Given the description of an element on the screen output the (x, y) to click on. 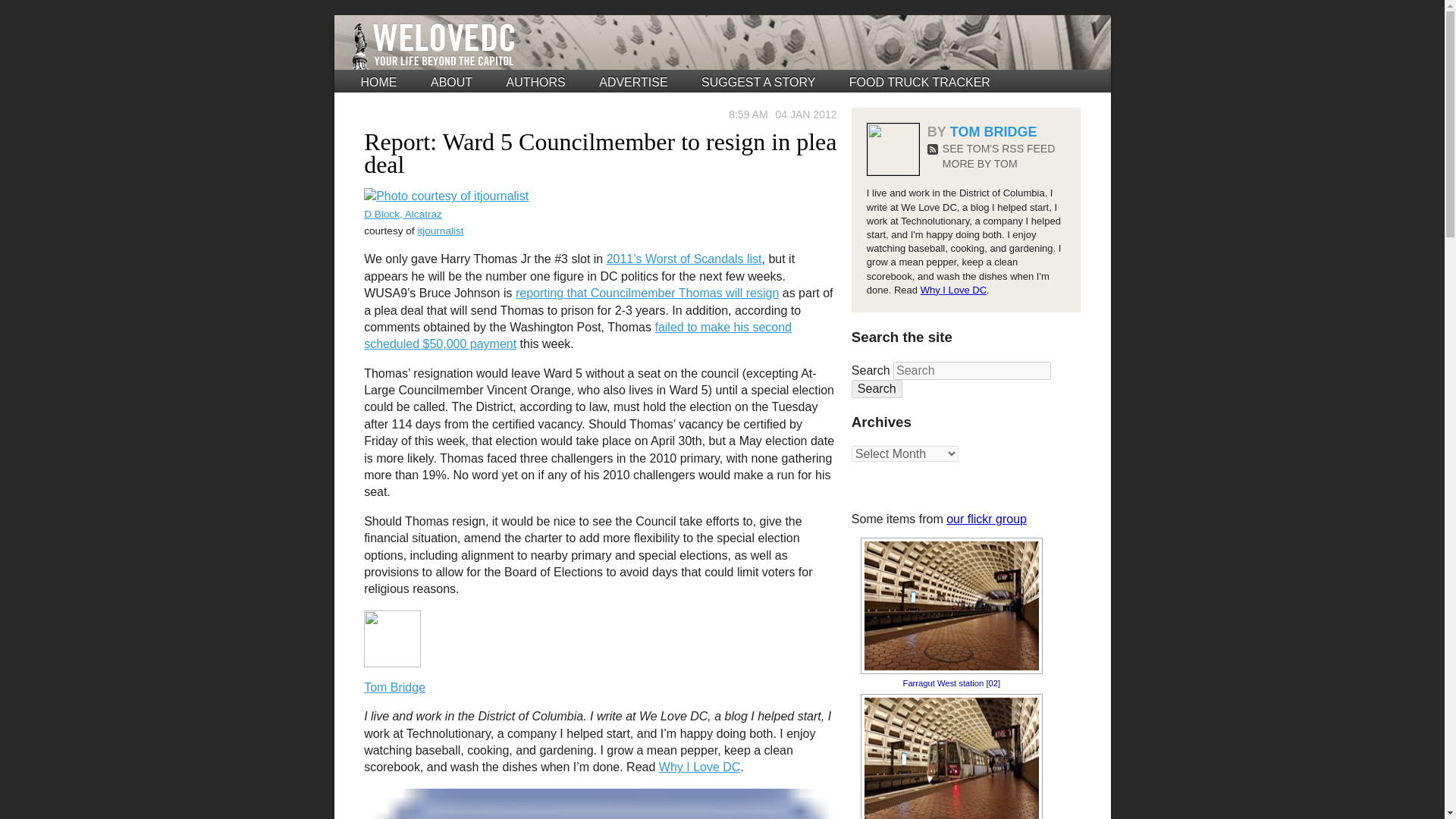
Why I Love DC (700, 766)
ADVERTISE (632, 82)
ABOUT (450, 82)
D Block, Alcatraz (446, 195)
HOME (379, 82)
Tom Bridge (394, 686)
AUTHORS (536, 82)
D Block, Alcatraz (403, 214)
itjournalist (439, 230)
